Given the description of an element on the screen output the (x, y) to click on. 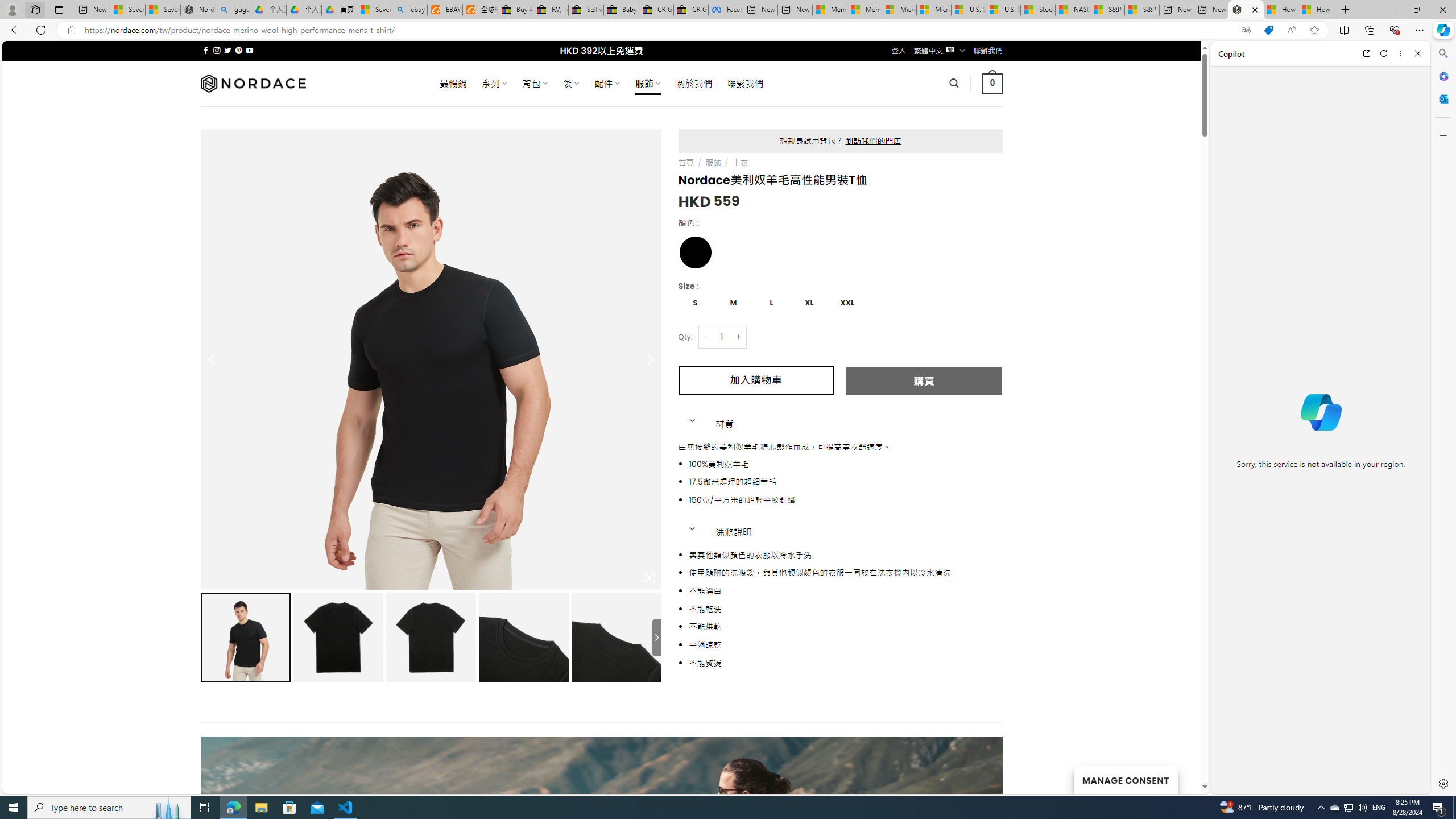
Follow on Twitter (227, 50)
Customize (1442, 135)
Follow on YouTube (249, 50)
